Given the description of an element on the screen output the (x, y) to click on. 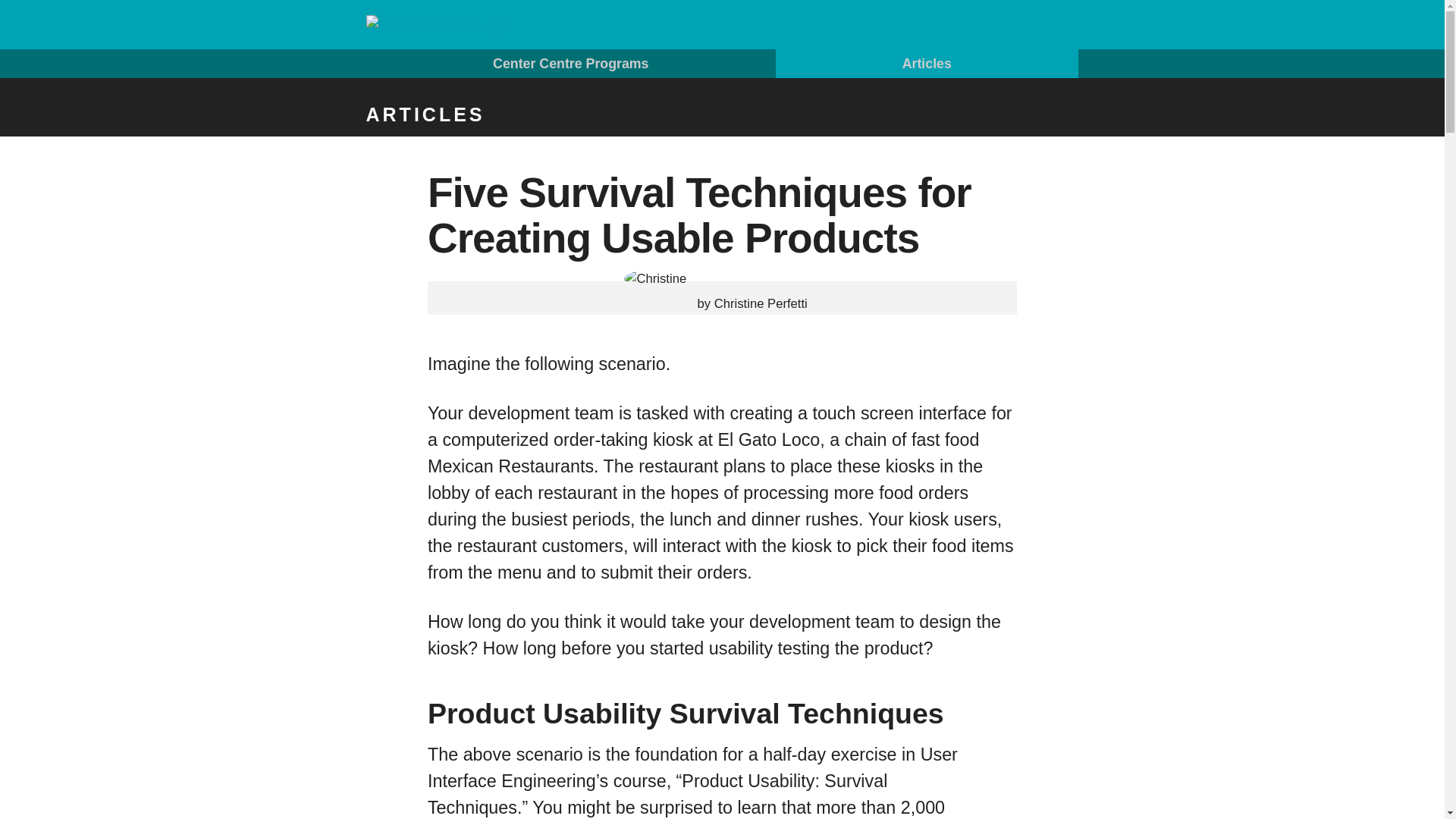
Center Centre Programs (571, 63)
Articles (926, 63)
ARTICLES (721, 114)
